Given the description of an element on the screen output the (x, y) to click on. 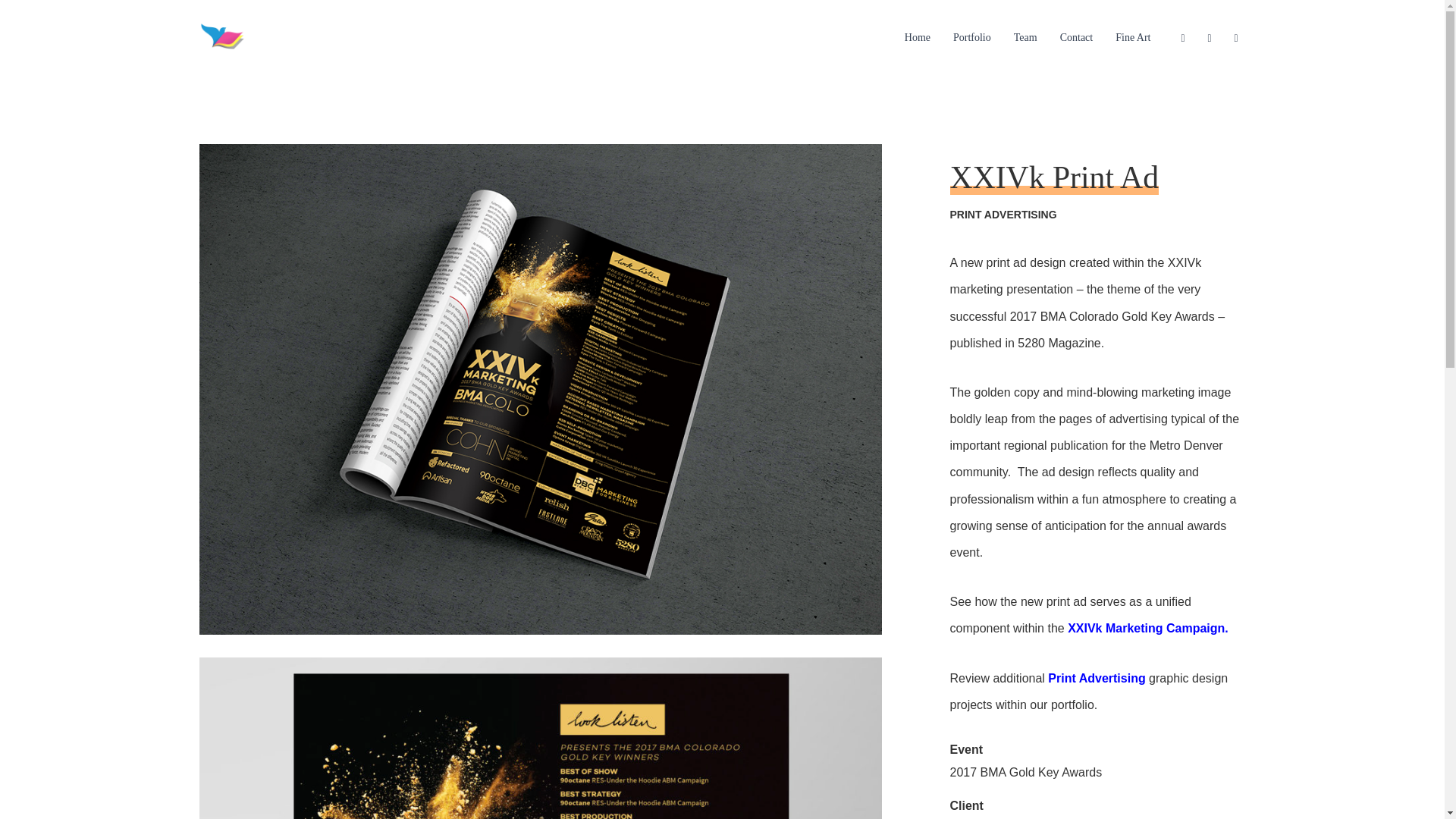
Portfolio (972, 37)
Contact (1076, 37)
Print Advertising (1003, 214)
Team (1025, 37)
Fine Art (1132, 37)
Home (917, 37)
